Given the description of an element on the screen output the (x, y) to click on. 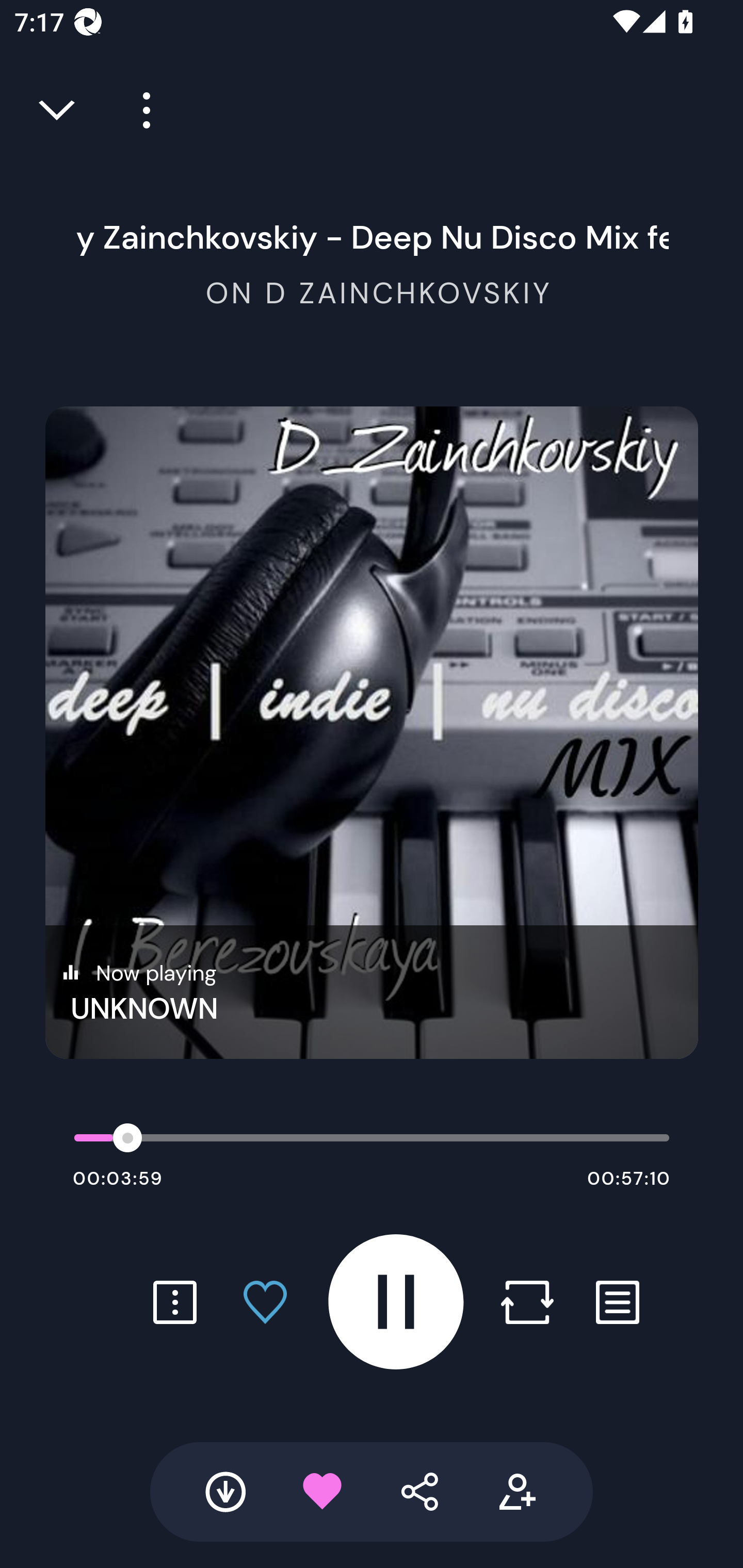
Close full player (58, 110)
Player more options button (139, 110)
Repost button (527, 1301)
